Given the description of an element on the screen output the (x, y) to click on. 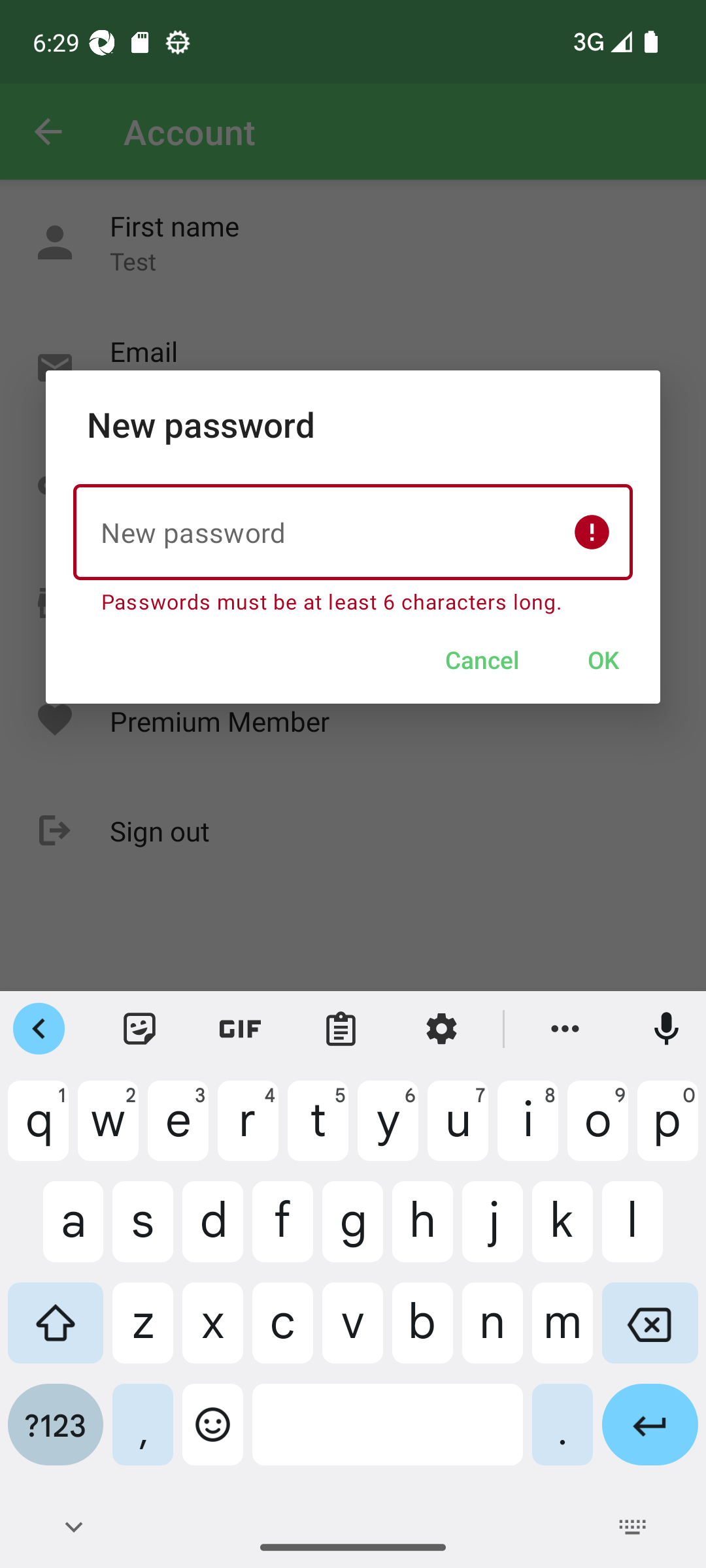
New password (352, 532)
Cancel (481, 659)
OK (603, 659)
